Given the description of an element on the screen output the (x, y) to click on. 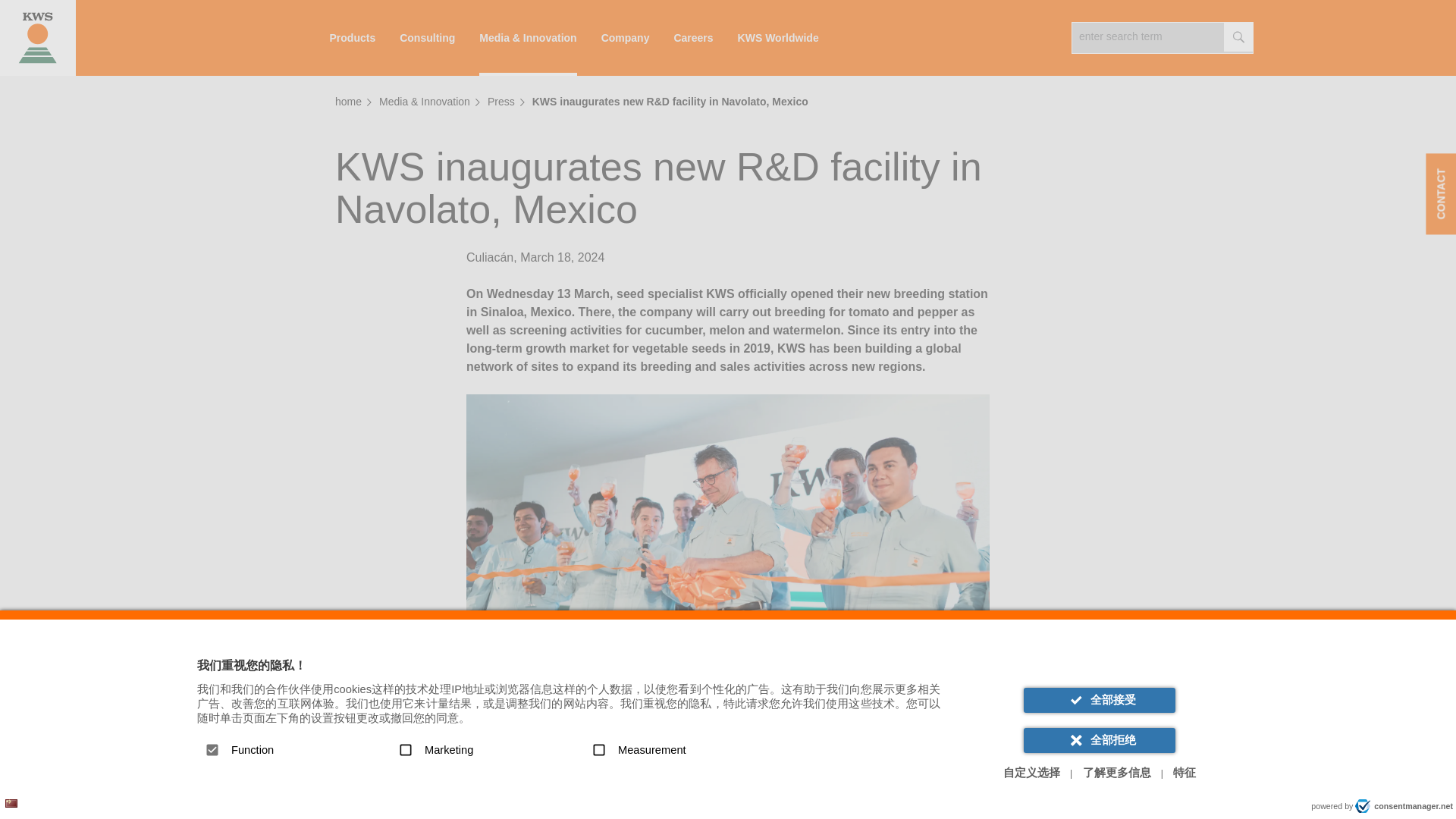
consentmanager.net (1404, 806)
Language: zh (11, 803)
KWS Worldwide (778, 38)
Language: zh (11, 803)
